Given the description of an element on the screen output the (x, y) to click on. 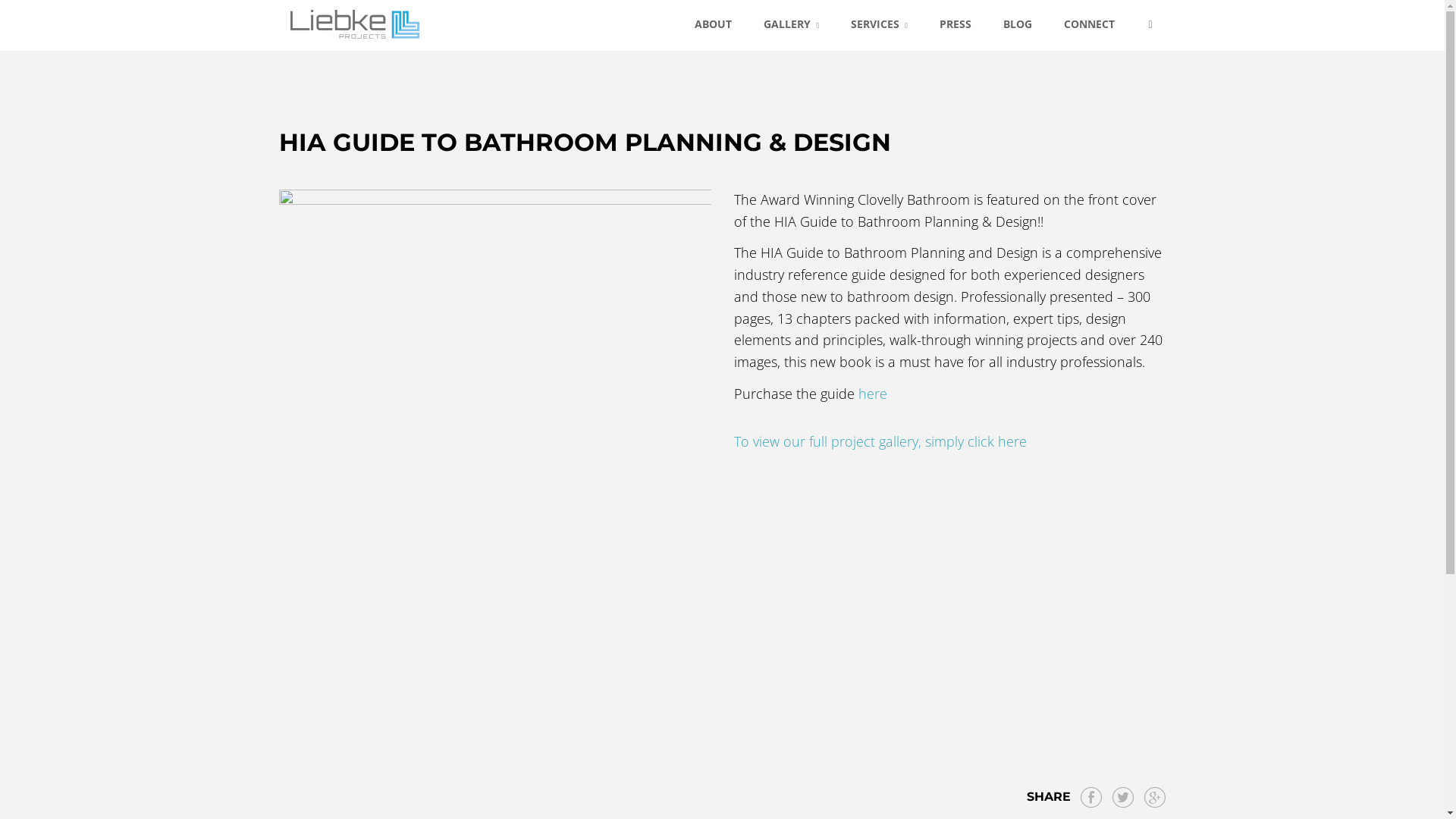
To view our full project gallery, simply click here Element type: text (880, 441)
BLOG Element type: text (1017, 24)
CONNECT Element type: text (1089, 24)
GALLERY Element type: text (790, 25)
here Element type: text (872, 393)
PRESS Element type: text (955, 24)
HIA GUIDE TO BATHROOM PLANNING & DESIGN Element type: text (585, 141)
SERVICES Element type: text (878, 25)
ABOUT Element type: text (712, 24)
